Given the description of an element on the screen output the (x, y) to click on. 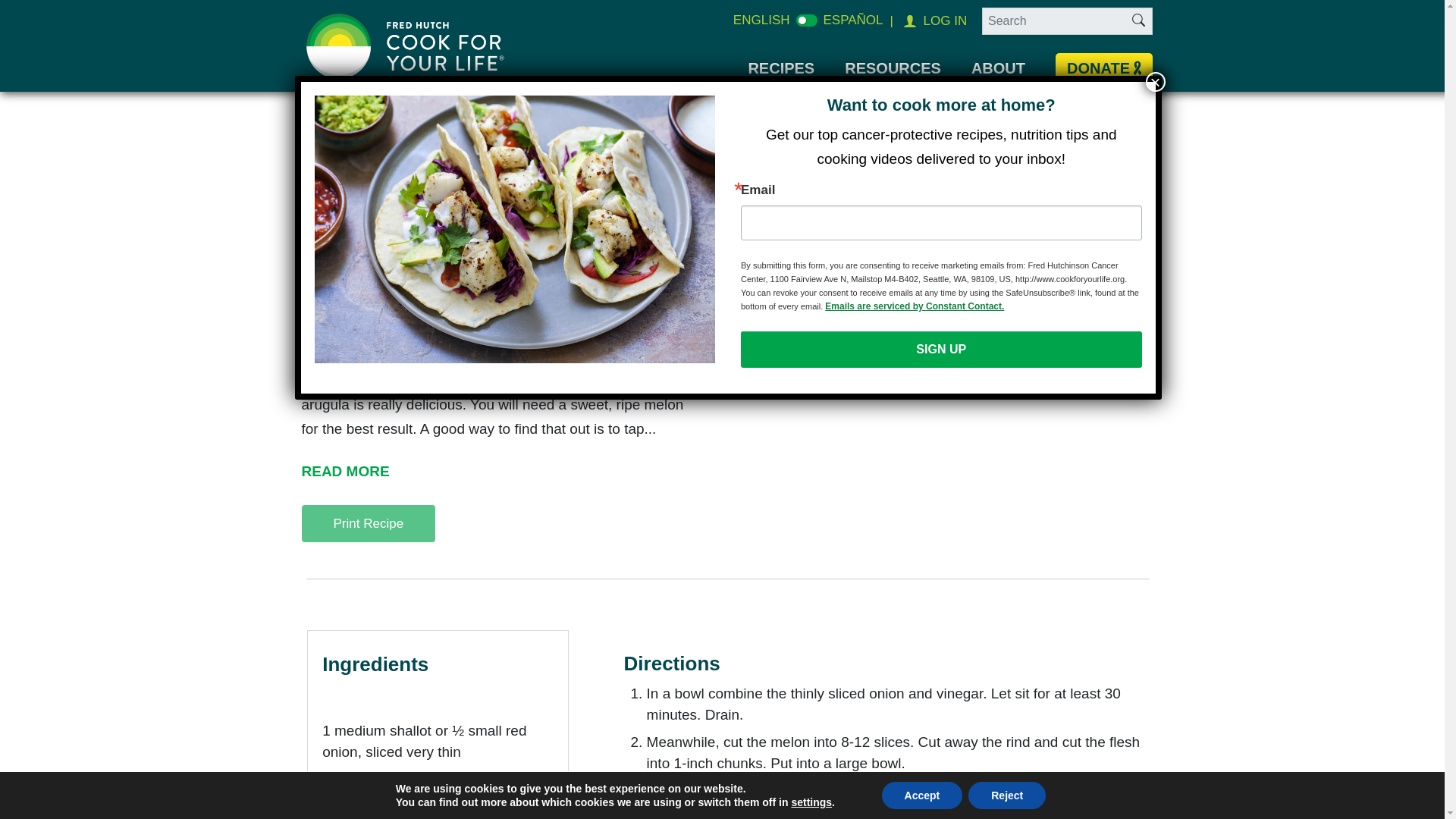
Print Recipe (368, 523)
Mute (1099, 344)
ENGLISH (761, 20)
Search (1139, 22)
RECIPES (780, 67)
LOG IN (943, 20)
Play (741, 344)
Fullscreen (1123, 344)
